Given the description of an element on the screen output the (x, y) to click on. 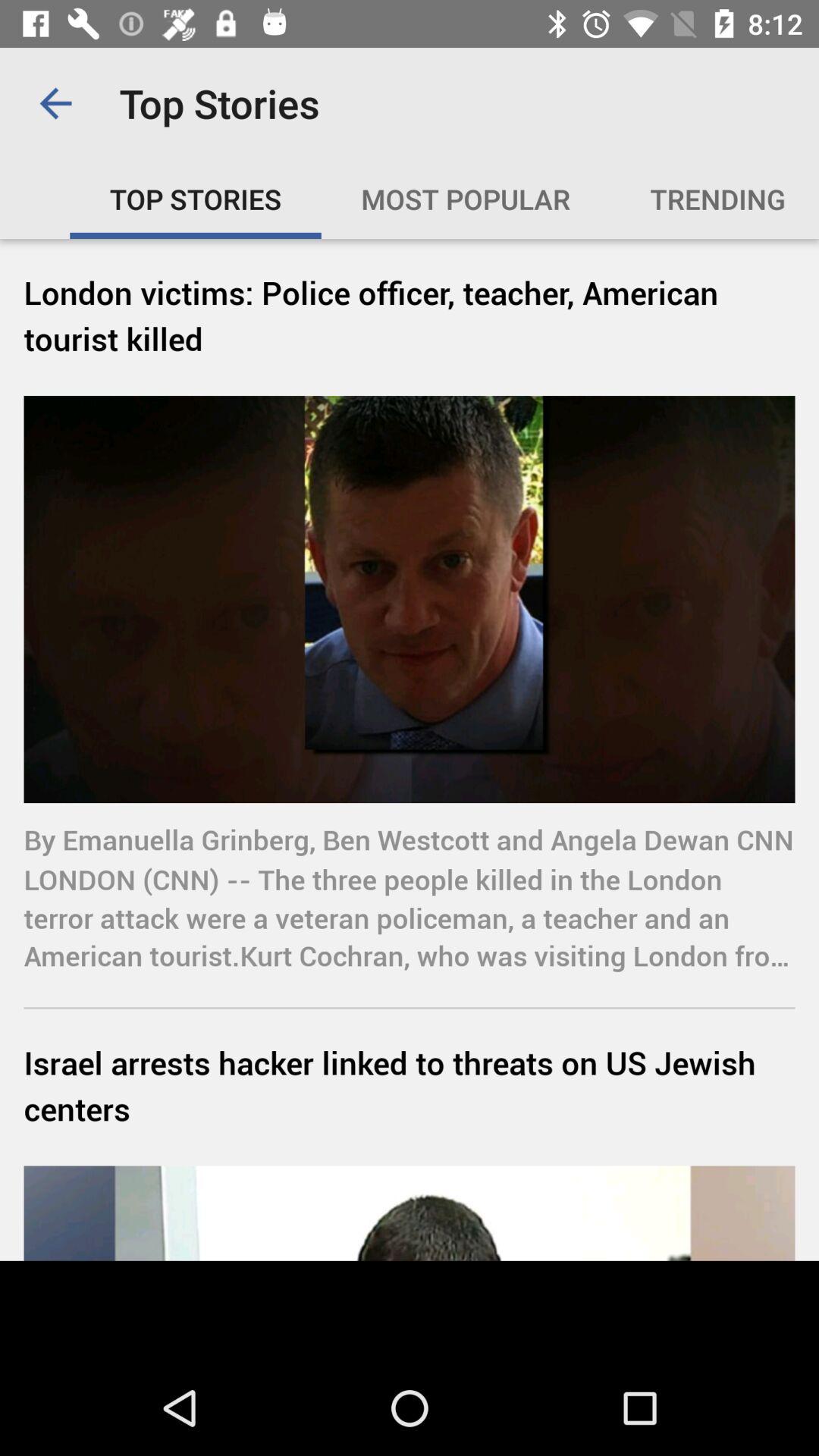
open icon next to top stories icon (55, 103)
